Given the description of an element on the screen output the (x, y) to click on. 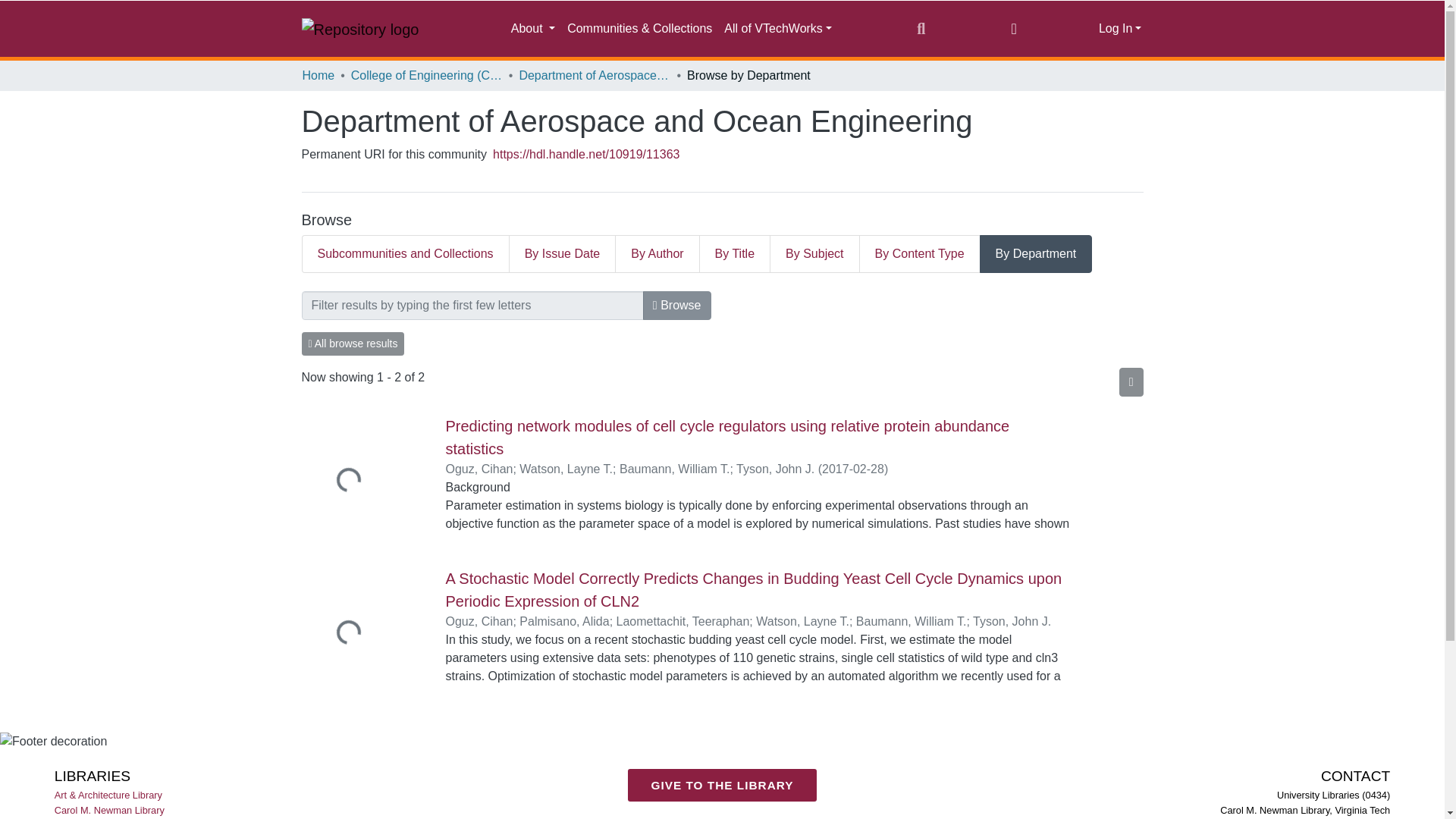
About (532, 28)
By Department (1036, 253)
Browse (677, 305)
By Subject (814, 253)
By Issue Date (562, 253)
Home (317, 75)
Log In (1119, 28)
Subcommunities and Collections (405, 253)
Language switch (1013, 28)
By Title (735, 253)
By Author (656, 253)
Department of Aerospace and Ocean Engineering (593, 75)
Search (920, 28)
All of VTechWorks (777, 28)
By Content Type (919, 253)
